Given the description of an element on the screen output the (x, y) to click on. 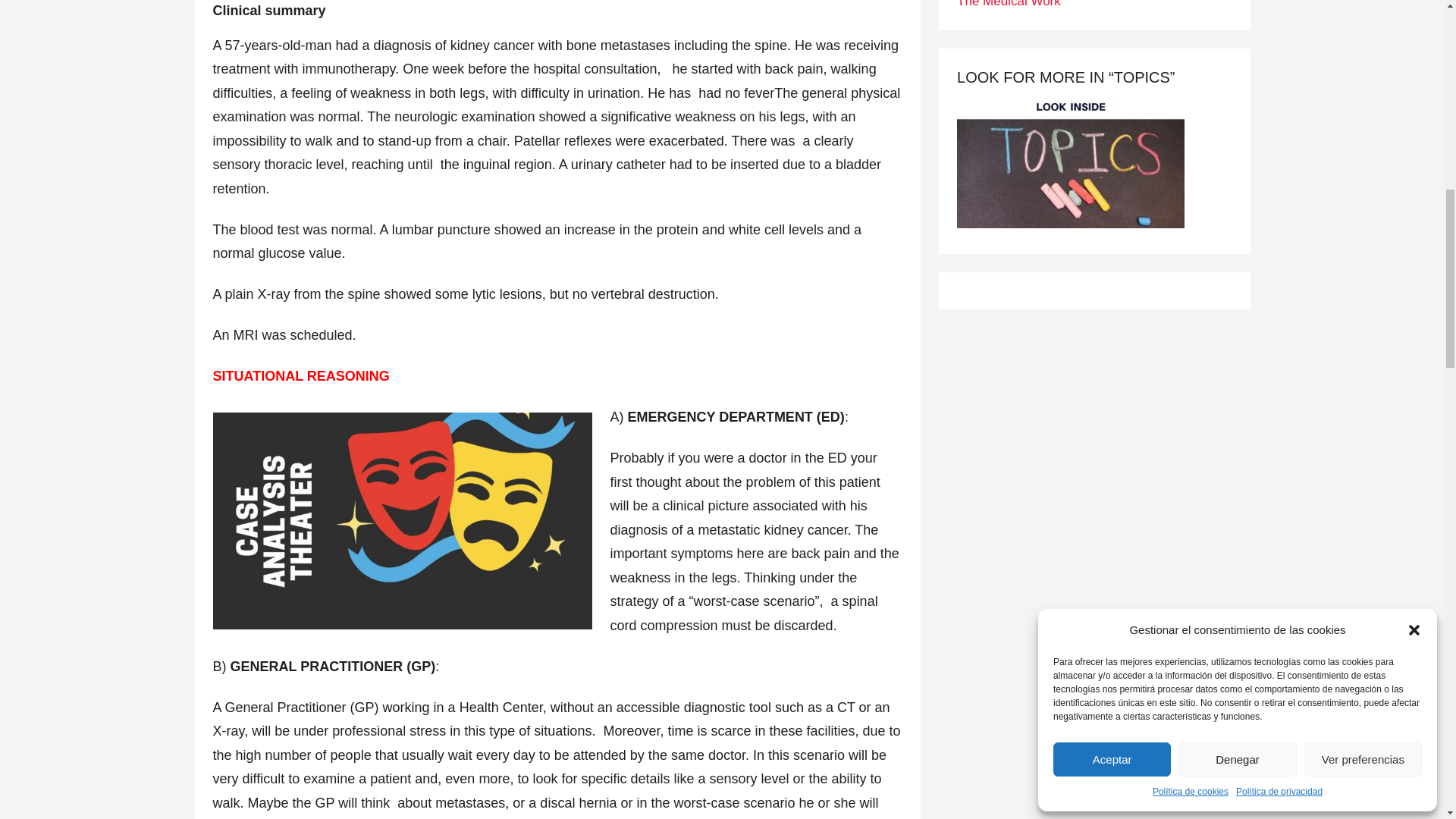
LOOK FOR MORE IN "TOPICS" (1070, 163)
